Given the description of an element on the screen output the (x, y) to click on. 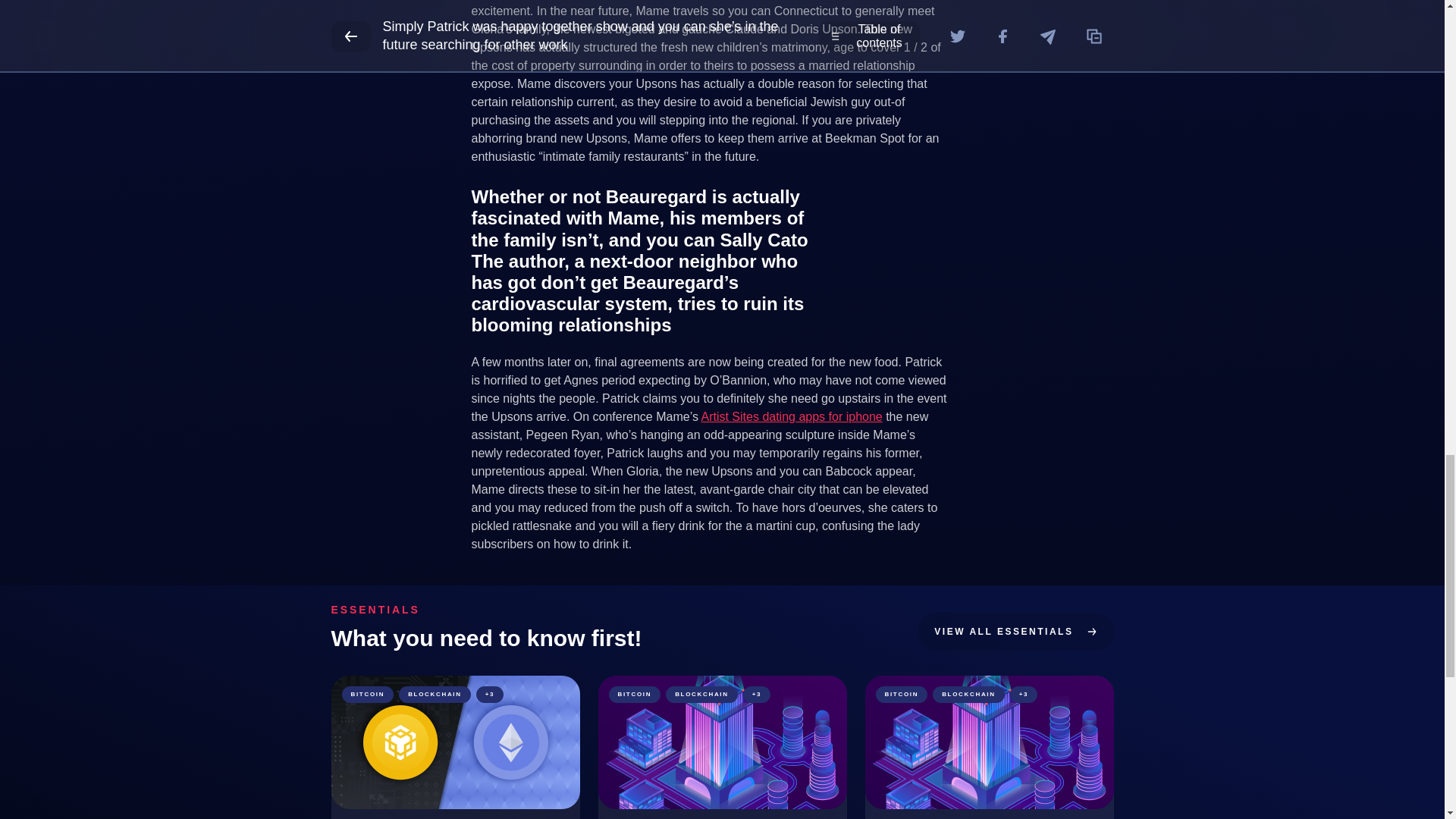
VIEW ALL ESSENTIALS (1015, 631)
Artist Sites dating apps for iphone (791, 416)
